Given the description of an element on the screen output the (x, y) to click on. 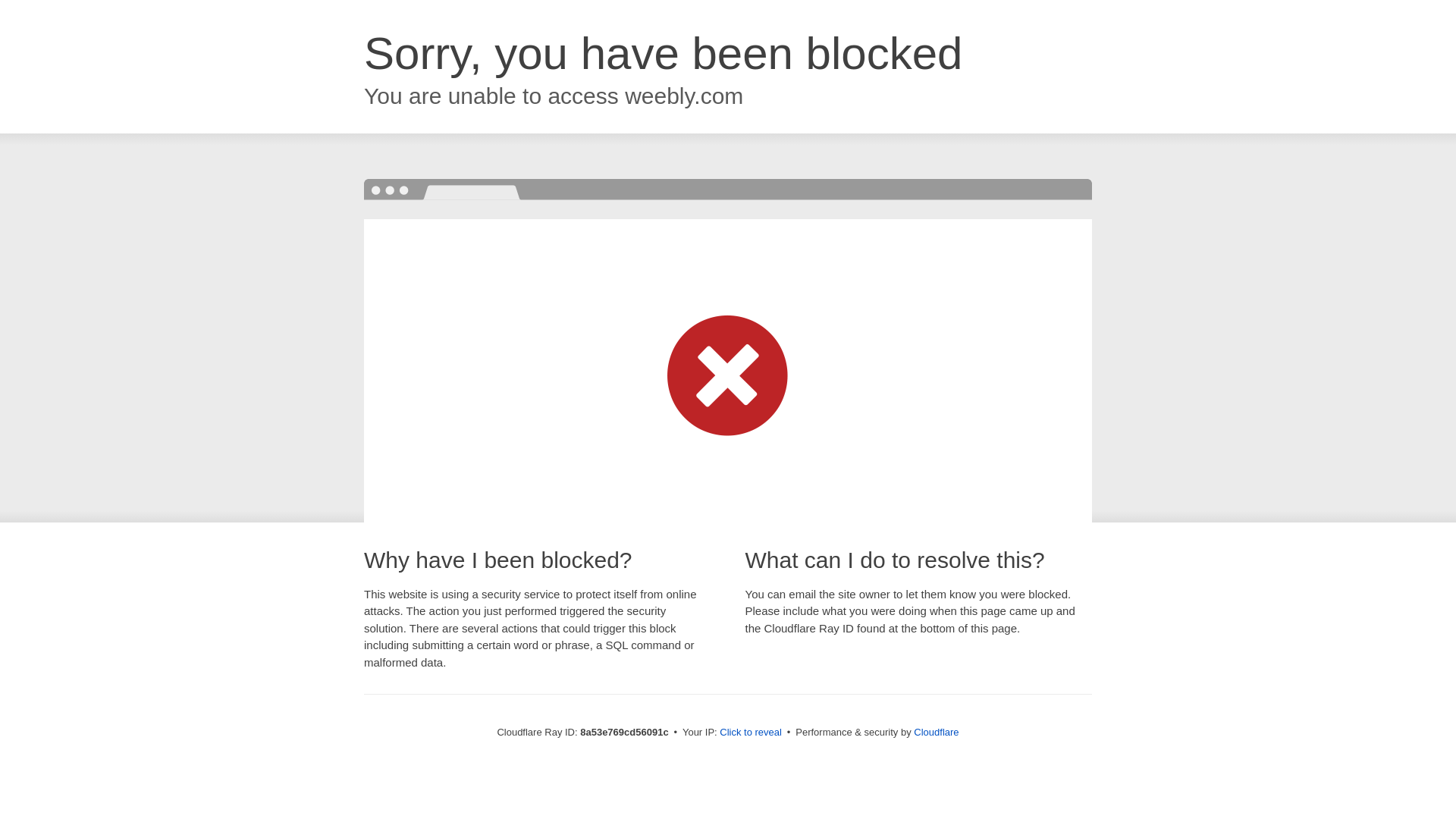
Cloudflare (936, 731)
Click to reveal (750, 732)
